Given the description of an element on the screen output the (x, y) to click on. 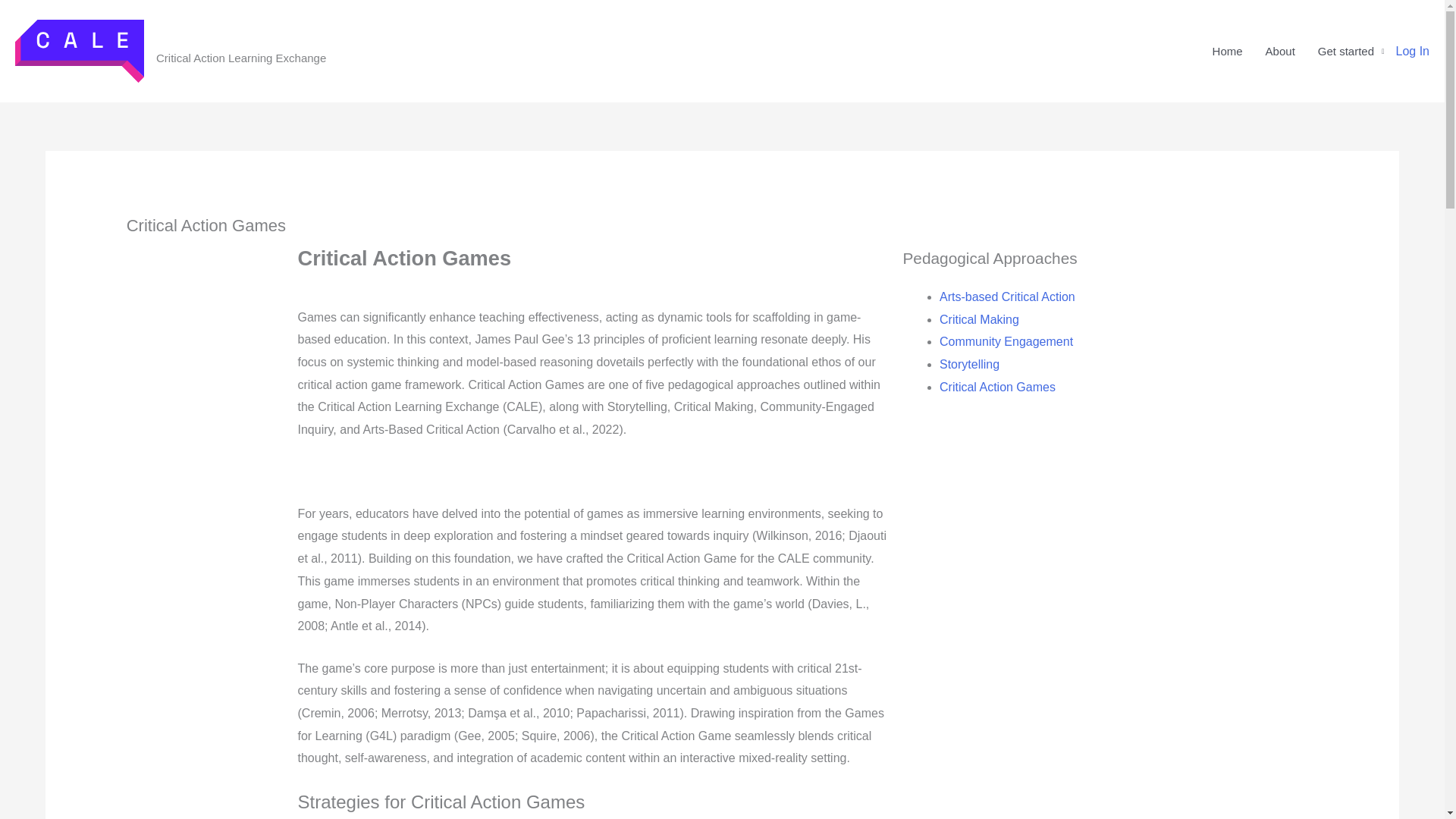
Storytelling (968, 364)
About (1279, 51)
Arts-based Critical Action (1006, 296)
Critical Making (978, 318)
Critical Action Games (996, 386)
Critical Action Learning Exchange (246, 42)
Community Engagement (1005, 341)
Home (1227, 51)
Get started (1351, 51)
